Given the description of an element on the screen output the (x, y) to click on. 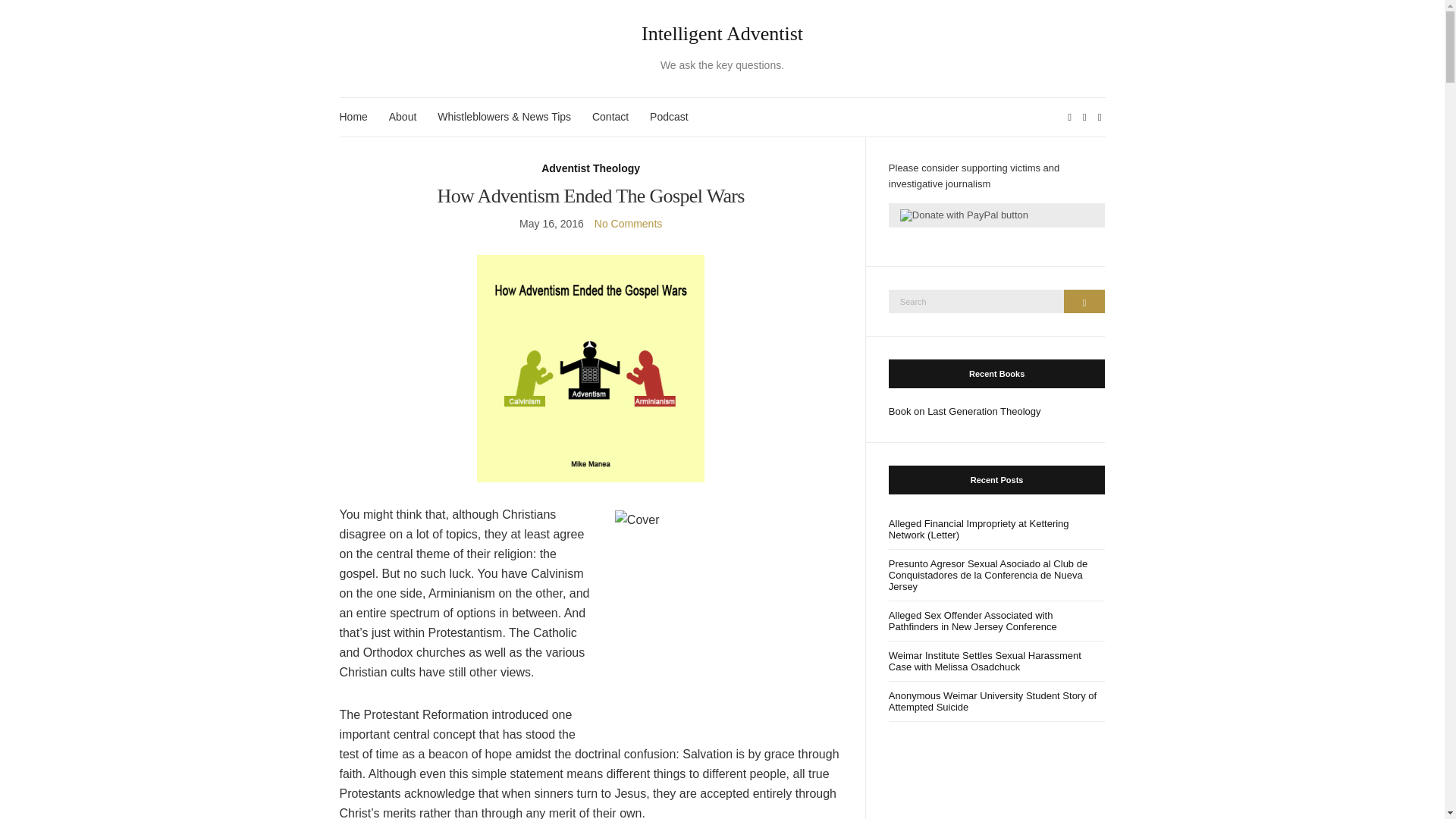
PayPal - The safer, easier way to pay online! (996, 215)
Podcast (668, 117)
Contact (610, 117)
Home (353, 117)
Search (1084, 300)
No Comments (628, 223)
About (402, 117)
Book on Last Generation Theology (964, 410)
Intelligent Adventist (722, 33)
Adventist Theology (590, 168)
